Given the description of an element on the screen output the (x, y) to click on. 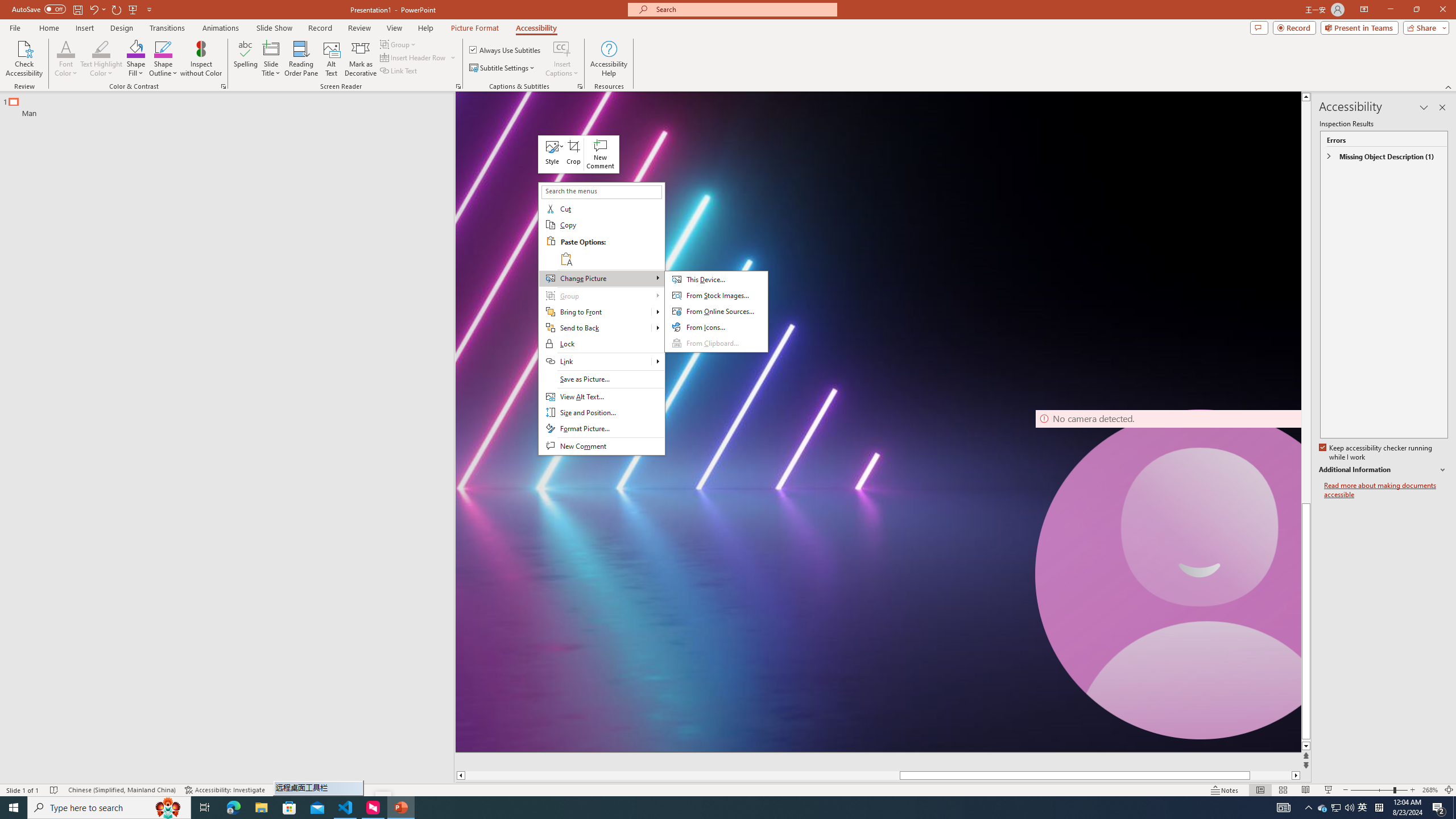
Keep Text Only (566, 258)
Send to Back (657, 327)
Class: NetUIToolWindow (578, 154)
Screen Reader (458, 85)
Lock (600, 343)
Send to Back (594, 327)
